Given the description of an element on the screen output the (x, y) to click on. 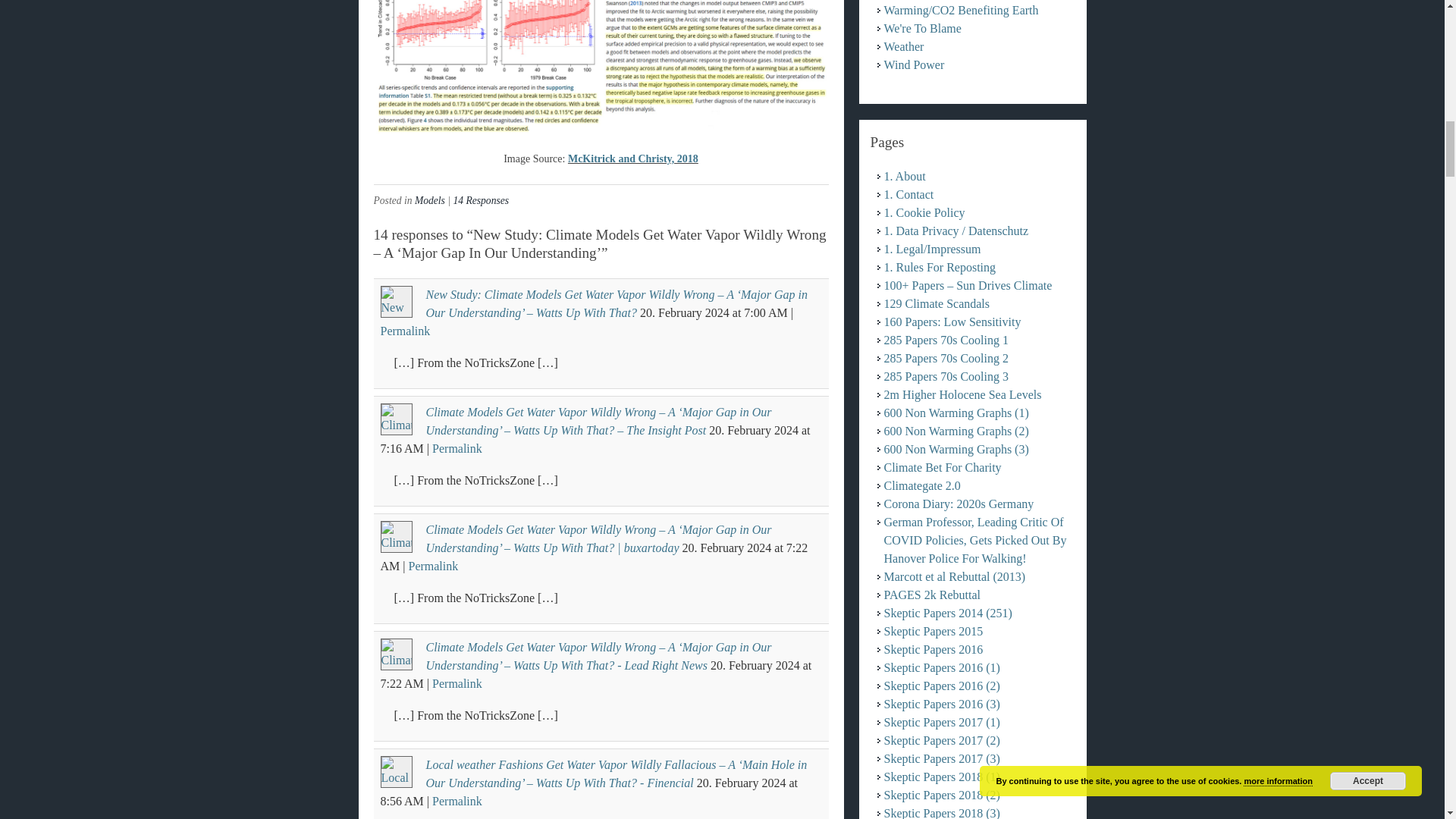
McKitrick and Christy, 2018 (632, 158)
14 Responses (480, 200)
Permalink (456, 448)
Tuesday, February 20th, 2024, 7:00 am (684, 312)
Permalink (456, 683)
Permalink (432, 565)
Permalink (456, 800)
Models (429, 200)
Permalink (405, 330)
